Given the description of an element on the screen output the (x, y) to click on. 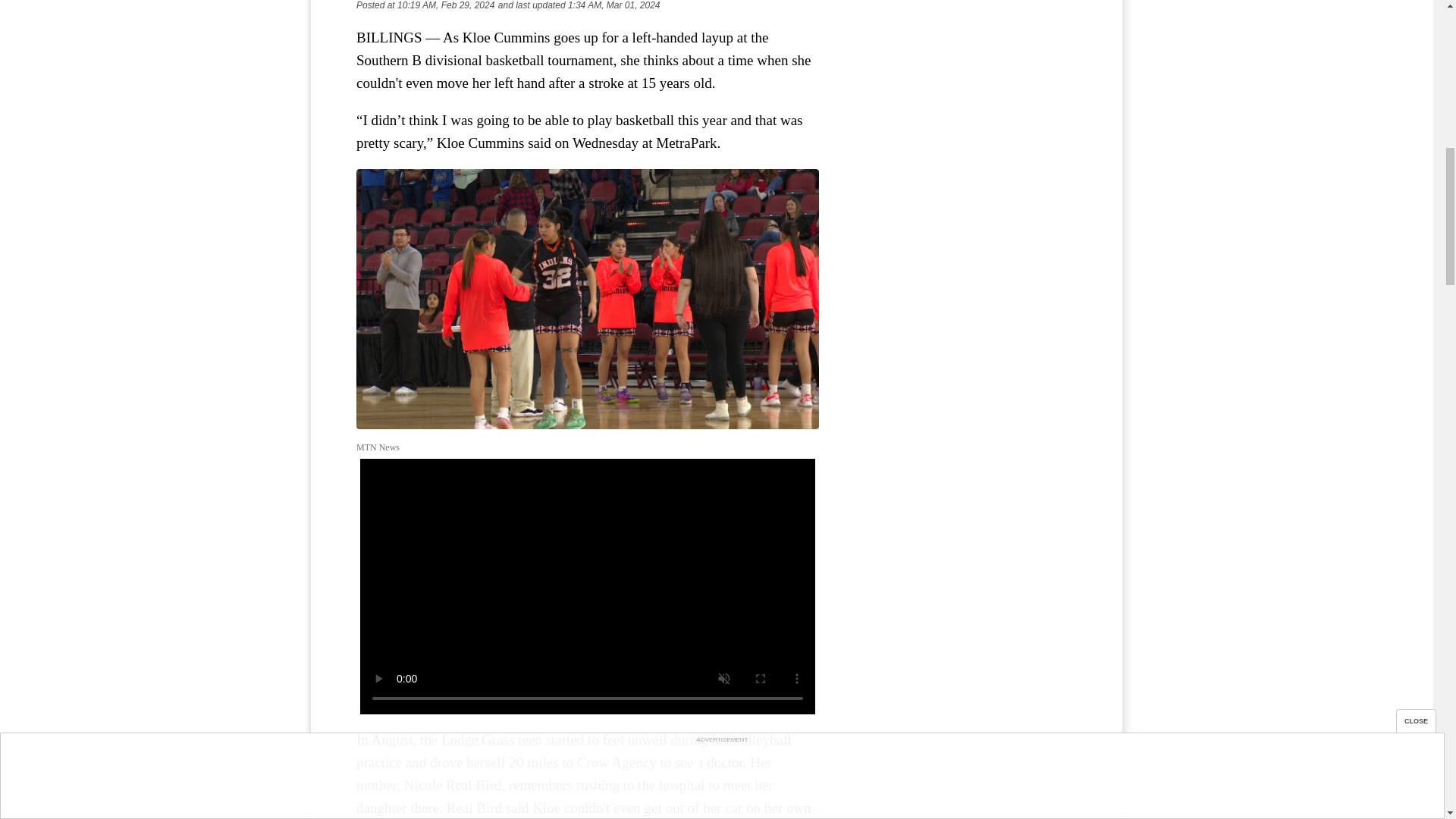
3rd party ad content (962, 79)
